Given the description of an element on the screen output the (x, y) to click on. 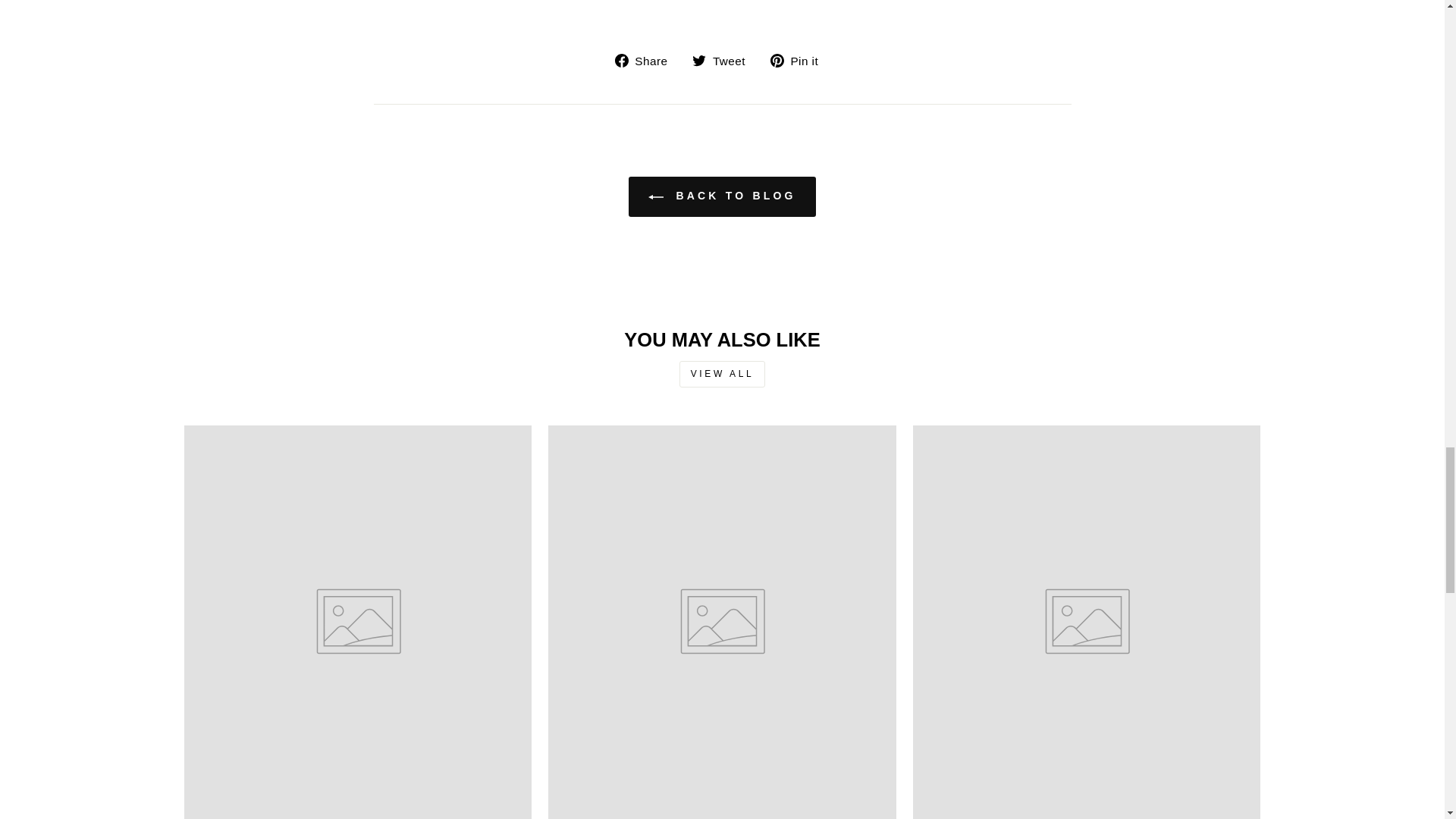
ICON-LEFT-ARROW (655, 196)
Pin on Pinterest (799, 59)
twitter (699, 60)
Share on Facebook (646, 59)
Tweet on Twitter (725, 59)
